Given the description of an element on the screen output the (x, y) to click on. 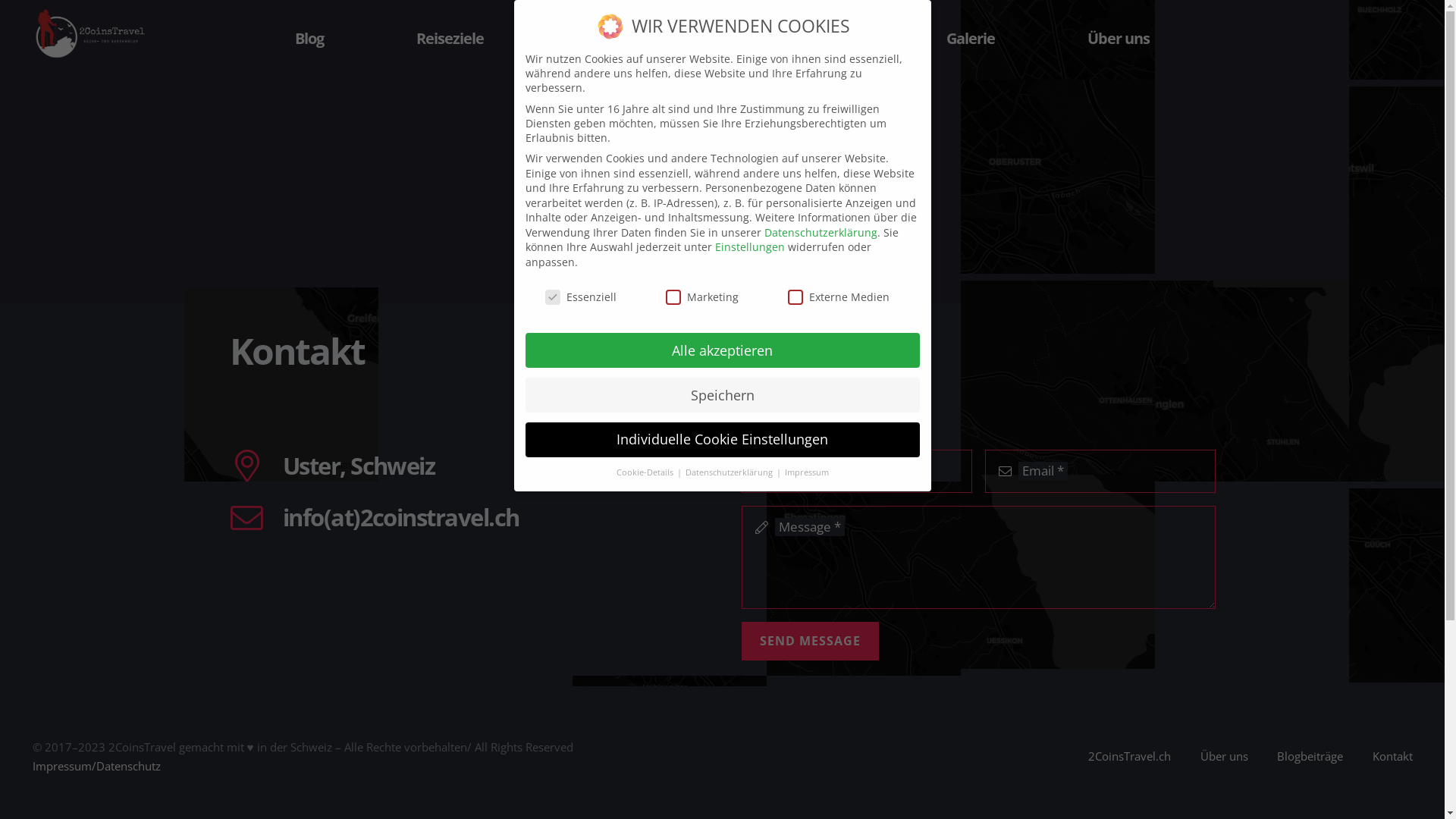
Reiseziele Element type: text (450, 37)
Individuelle Cookie Einstellungen Element type: text (721, 439)
Wanderungen Element type: text (805, 37)
Impressum/Datenschutz Element type: text (95, 765)
Cookie-Details Element type: text (644, 472)
Galerie Element type: text (970, 37)
Einstellungen Element type: text (749, 246)
Speichern Element type: text (721, 394)
SEND MESSAGE Element type: text (809, 640)
Kontakt Element type: text (1392, 755)
Alle akzeptieren Element type: text (721, 349)
Blog Element type: text (309, 37)
Impressum Element type: text (806, 472)
2CoinsTravel.ch Element type: text (1129, 755)
